Given the description of an element on the screen output the (x, y) to click on. 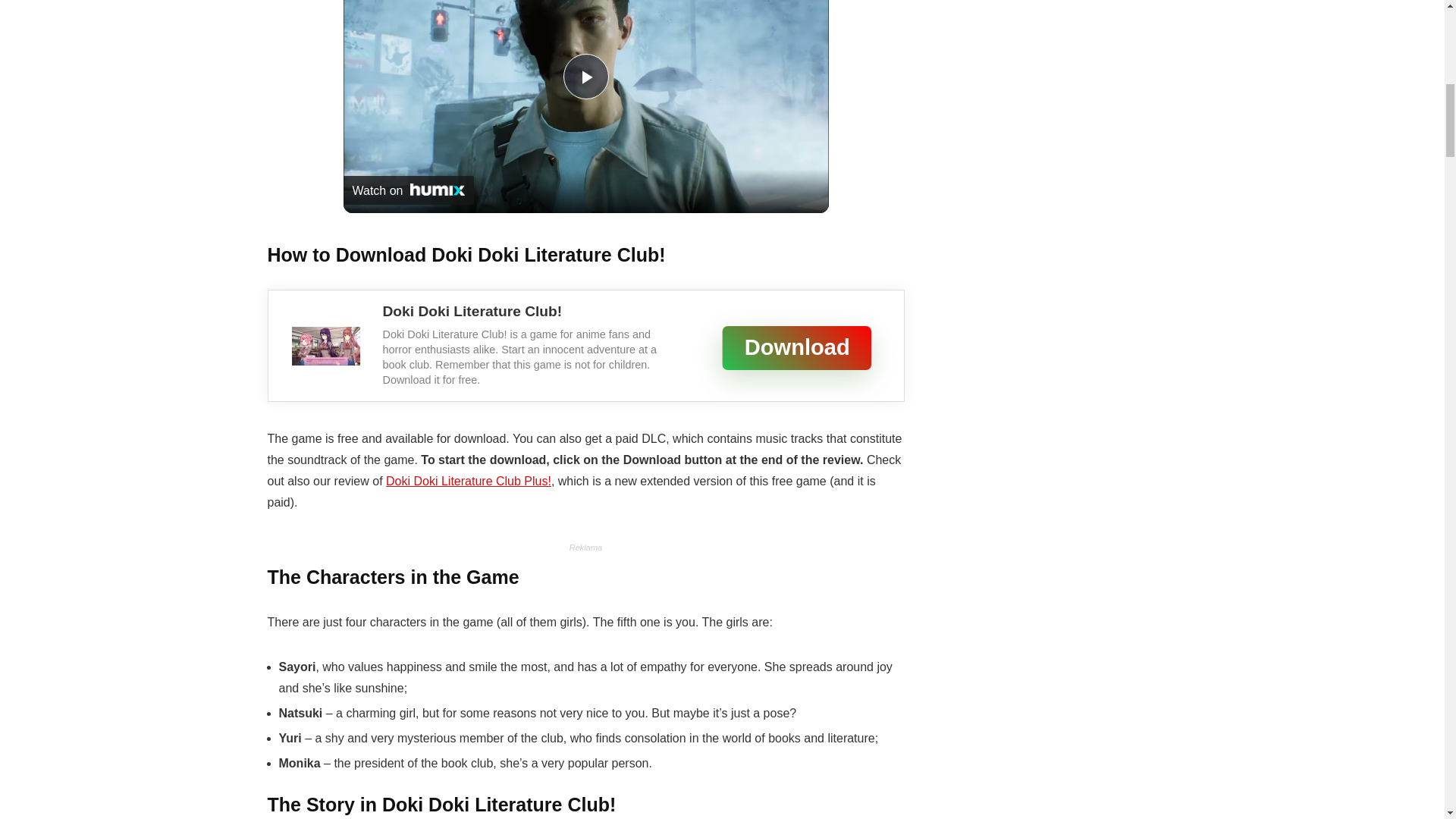
Play Video (585, 76)
Play Video (585, 76)
